Given the description of an element on the screen output the (x, y) to click on. 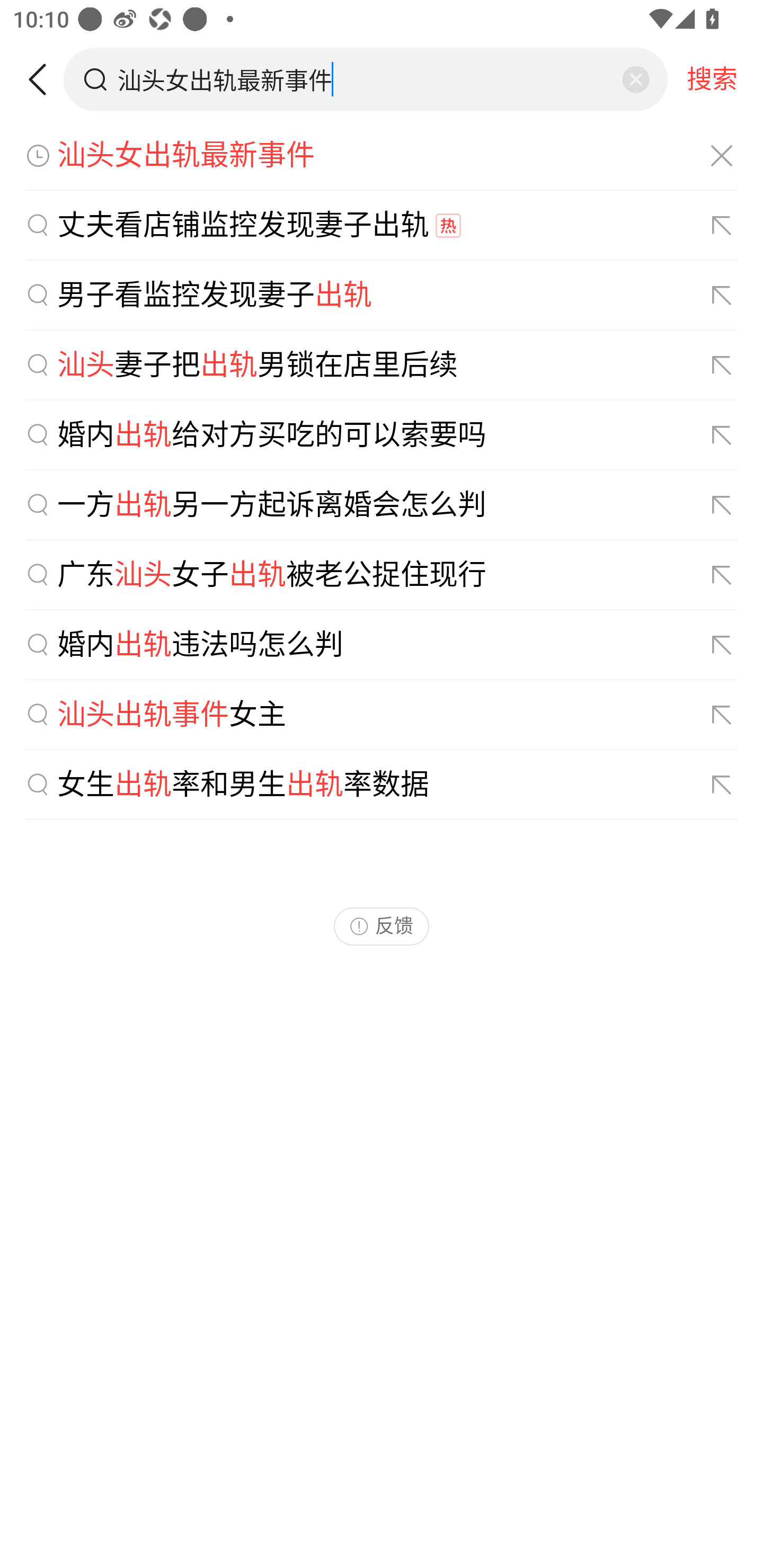
搜索框，汕头女出轨最新事件 (366, 79)
搜索 (711, 79)
返回 (44, 79)
清除 (635, 79)
汕头女出轨最新事件 (381, 155)
丈夫看店铺监控发现妻子出轨 填充搜索词丈夫看店铺监控发现妻子出轨至搜索框 (381, 225)
填充搜索词丈夫看店铺监控发现妻子出轨至搜索框 (721, 225)
男子看监控发现妻子出轨 填充搜索词男子看监控发现妻子出轨至搜索框 (381, 295)
填充搜索词男子看监控发现妻子出轨至搜索框 (721, 295)
汕头妻子把出轨男锁在店里后续 填充搜索词汕头妻子把出轨男锁在店里后续至搜索框 (381, 364)
填充搜索词汕头妻子把出轨男锁在店里后续至搜索框 (721, 365)
婚内出轨给对方买吃的可以索要吗 填充搜索词婚内出轨给对方买吃的可以索要吗至搜索框 (381, 434)
填充搜索词婚内出轨给对方买吃的可以索要吗至搜索框 (721, 435)
一方出轨另一方起诉离婚会怎么判 填充搜索词一方出轨另一方起诉离婚会怎么判至搜索框 (381, 505)
填充搜索词一方出轨另一方起诉离婚会怎么判至搜索框 (721, 504)
广东汕头女子出轨被老公捉住现行 填充搜索词广东汕头女子出轨被老公捉住现行至搜索框 (381, 574)
填充搜索词广东汕头女子出轨被老公捉住现行至搜索框 (721, 575)
婚内出轨违法吗怎么判 填充搜索词婚内出轨违法吗怎么判至搜索框 (381, 644)
填充搜索词婚内出轨违法吗怎么判至搜索框 (721, 644)
汕头出轨事件女主 填充搜索词汕头出轨事件女主至搜索框 (381, 714)
填充搜索词汕头出轨事件女主至搜索框 (721, 714)
女生出轨率和男生出轨率数据 填充搜索词女生出轨率和男生出轨率数据至搜索框 (381, 784)
填充搜索词女生出轨率和男生出轨率数据至搜索框 (721, 785)
反馈 (381, 926)
